Given the description of an element on the screen output the (x, y) to click on. 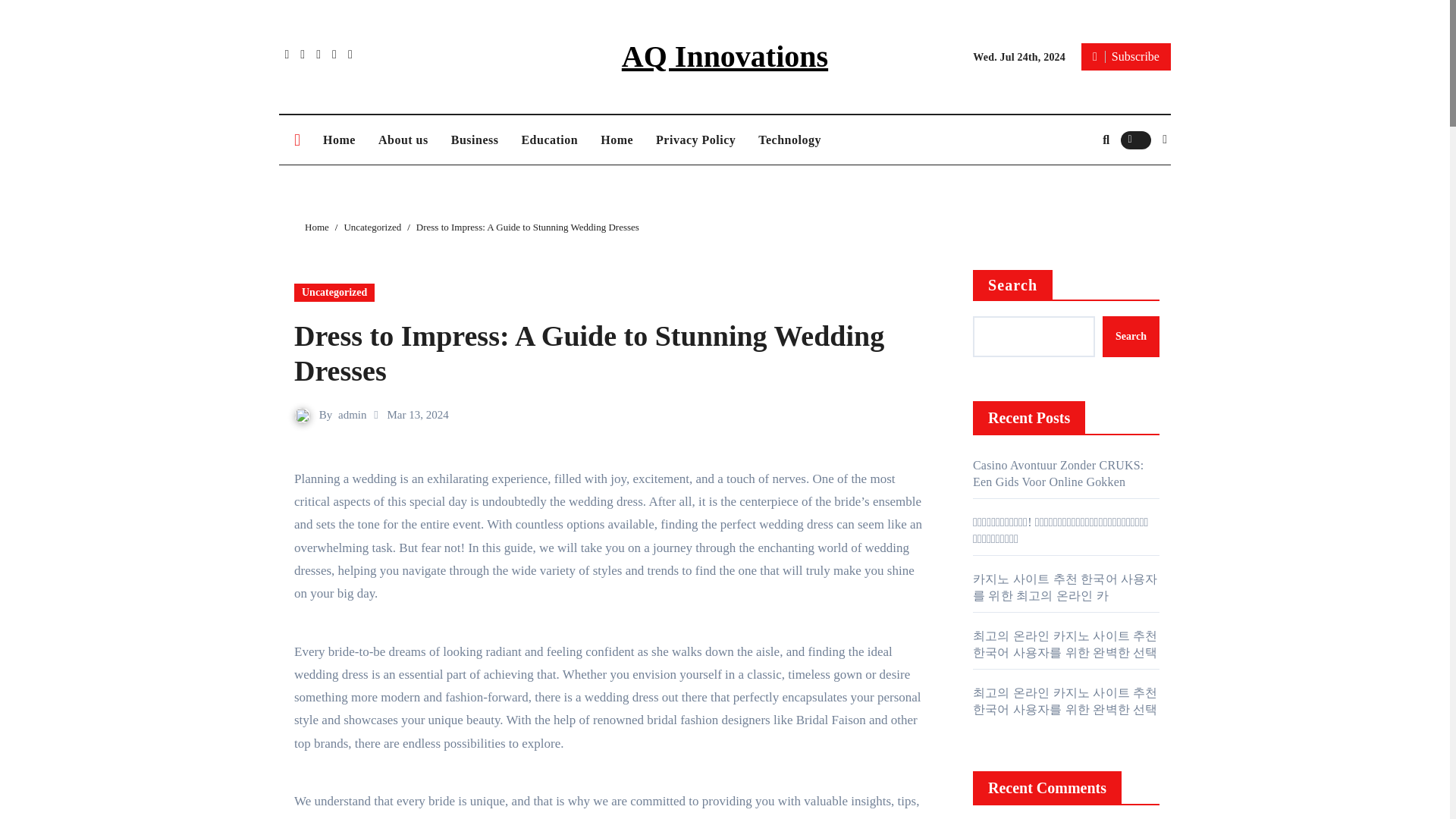
Home (338, 139)
Dress to Impress: A Guide to Stunning Wedding Dresses (588, 353)
AQ Innovations (724, 56)
Home (316, 226)
Uncategorized (334, 292)
Education (549, 139)
Home (617, 139)
Home (338, 139)
Uncategorized (372, 226)
Business (475, 139)
About us (402, 139)
Subscribe (1125, 56)
Privacy Policy (695, 139)
admin (351, 413)
